Given the description of an element on the screen output the (x, y) to click on. 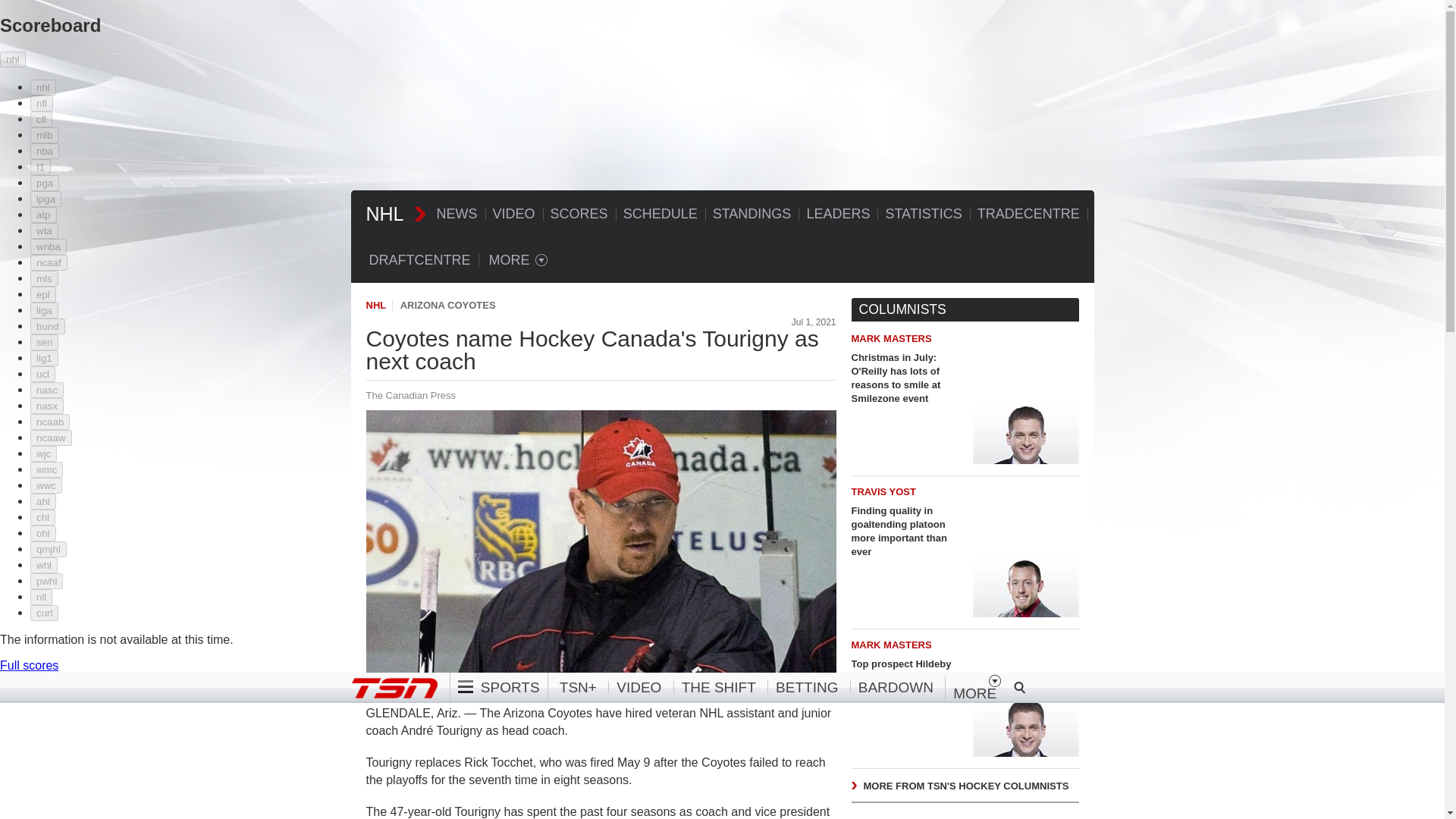
Andre Tourigny, The Canadian Press (600, 542)
